Given the description of an element on the screen output the (x, y) to click on. 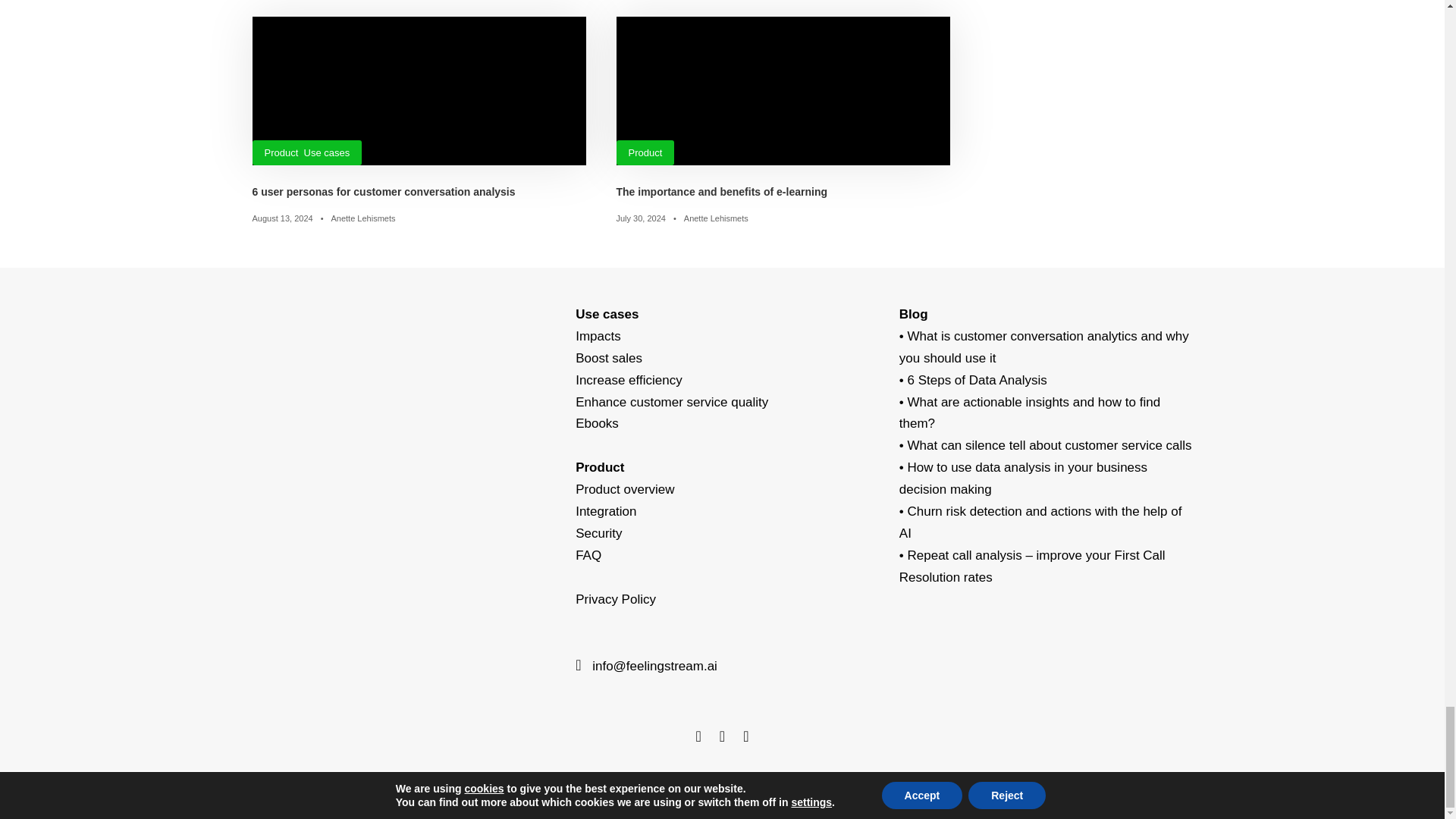
Posts by Anette Lehismets (716, 217)
feelingstream e-learning (782, 90)
user personas for customer conversation analysis (418, 90)
Posts by Anette Lehismets (362, 217)
